Given the description of an element on the screen output the (x, y) to click on. 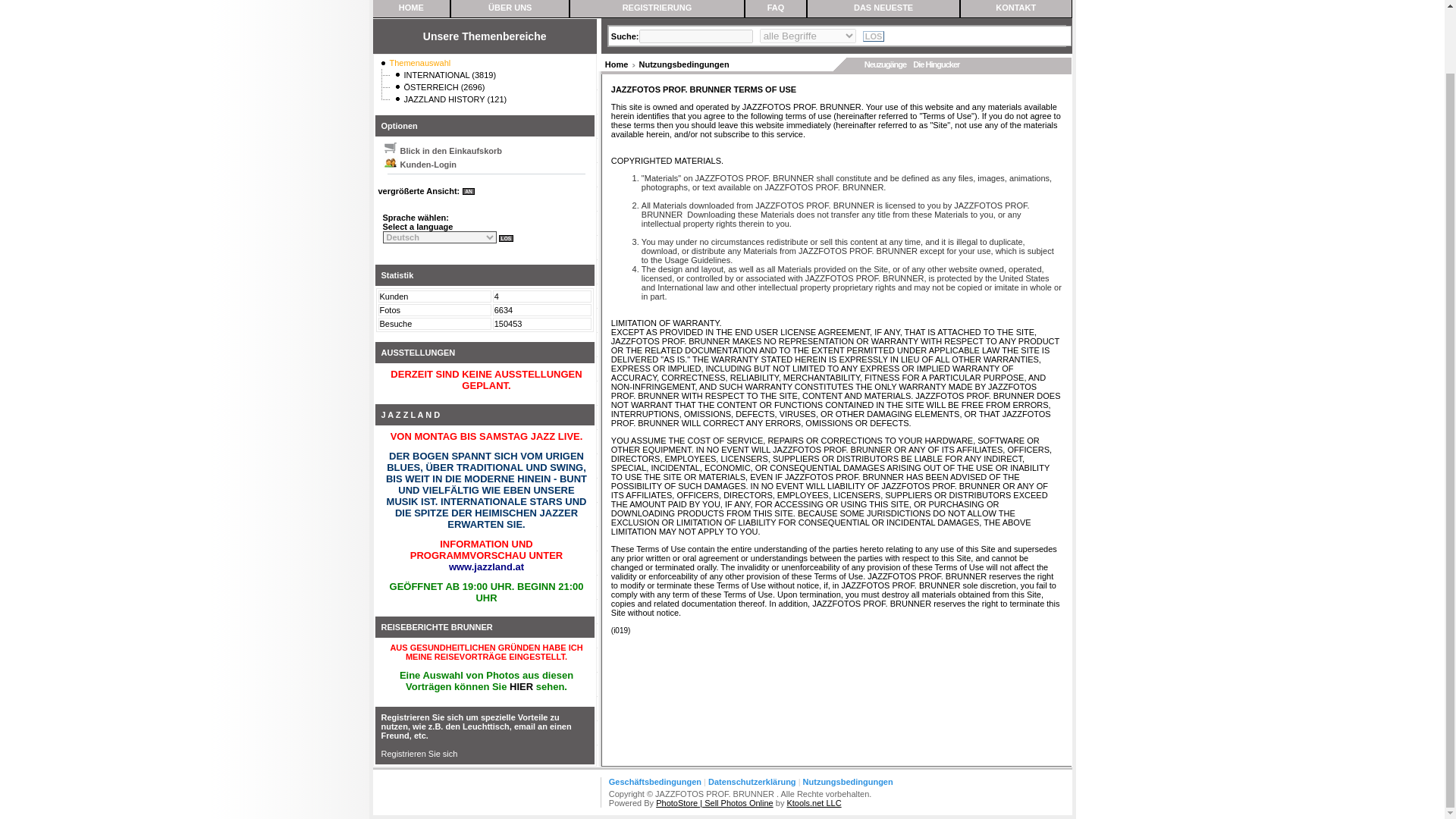
AN (468, 191)
LOS (874, 36)
Themenauswahl (420, 62)
www.jazzland.at (486, 566)
HOME (410, 7)
Registrieren Sie sich (418, 758)
DAS NEUESTE (882, 7)
LOS (874, 36)
LOS (506, 238)
KONTAKT (1015, 7)
 Blick in den Einkaufskorb (441, 150)
zur Galerie 'Reisefotos' (520, 686)
LOS (506, 238)
Home (616, 63)
